Given the description of an element on the screen output the (x, y) to click on. 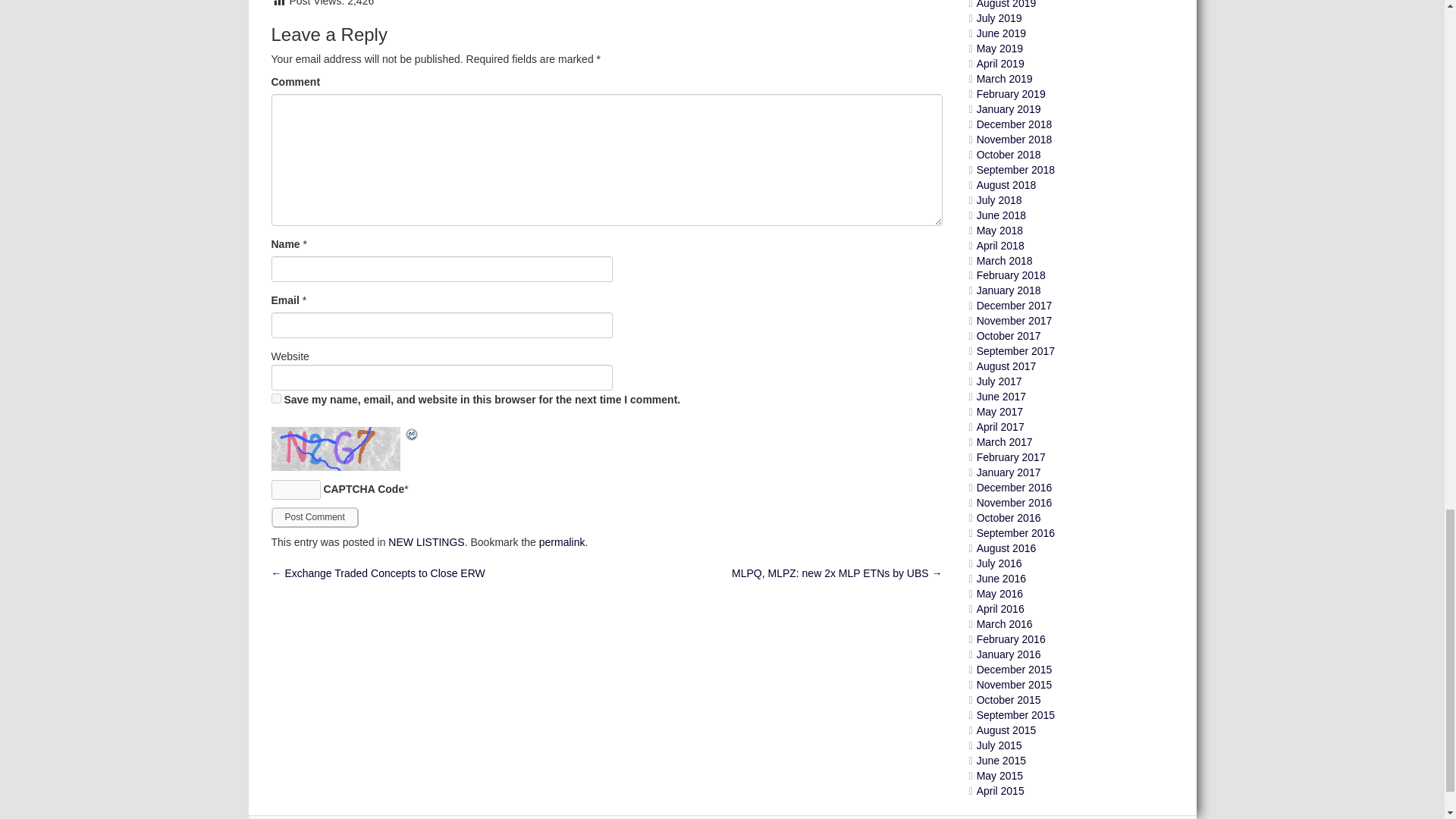
Post Comment (314, 516)
Post Comment (314, 516)
yes (275, 398)
